Given the description of an element on the screen output the (x, y) to click on. 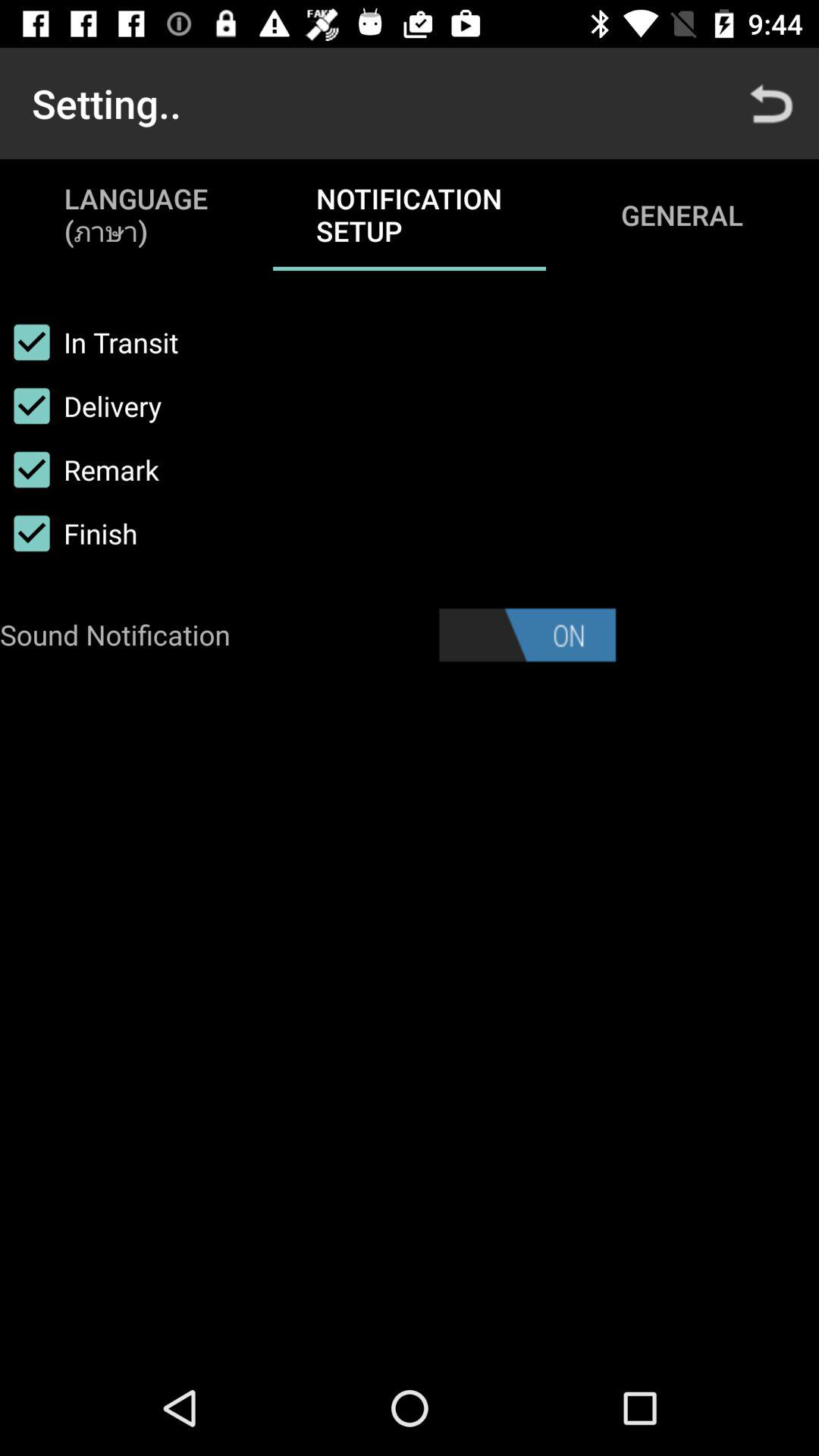
click the checkbox above delivery item (89, 342)
